Given the description of an element on the screen output the (x, y) to click on. 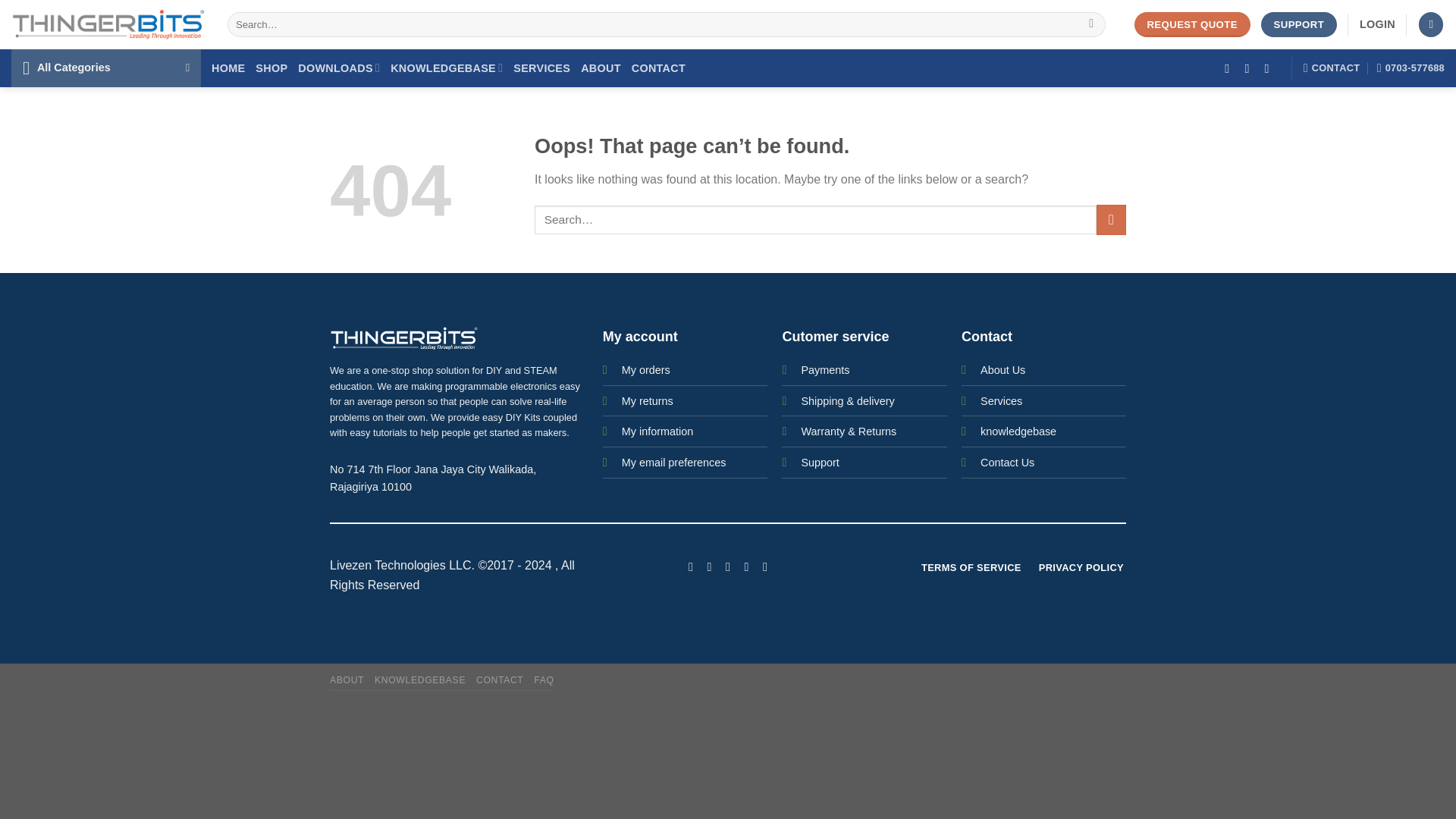
Follow on Instagram (708, 566)
KNOWLEDGEBASE (446, 67)
0703-577688 (1410, 68)
DOWNLOADS (339, 67)
Follow on LinkedIn (745, 566)
Follow on YouTube (764, 566)
SHOP (271, 67)
SERVICES (541, 67)
Follow on Facebook (690, 566)
